Given the description of an element on the screen output the (x, y) to click on. 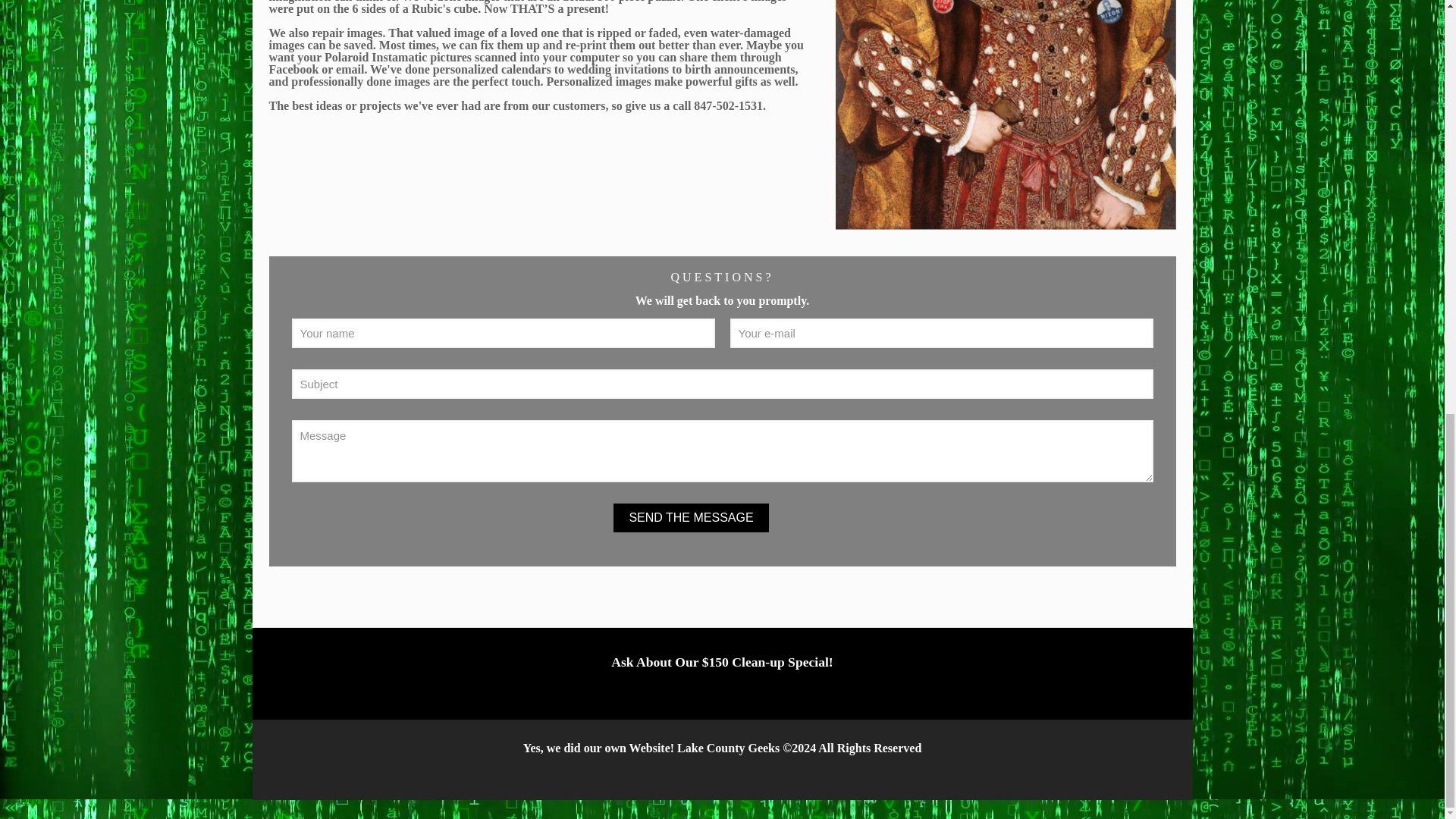
SEND THE MESSAGE (690, 517)
SEND THE MESSAGE (690, 517)
